Given the description of an element on the screen output the (x, y) to click on. 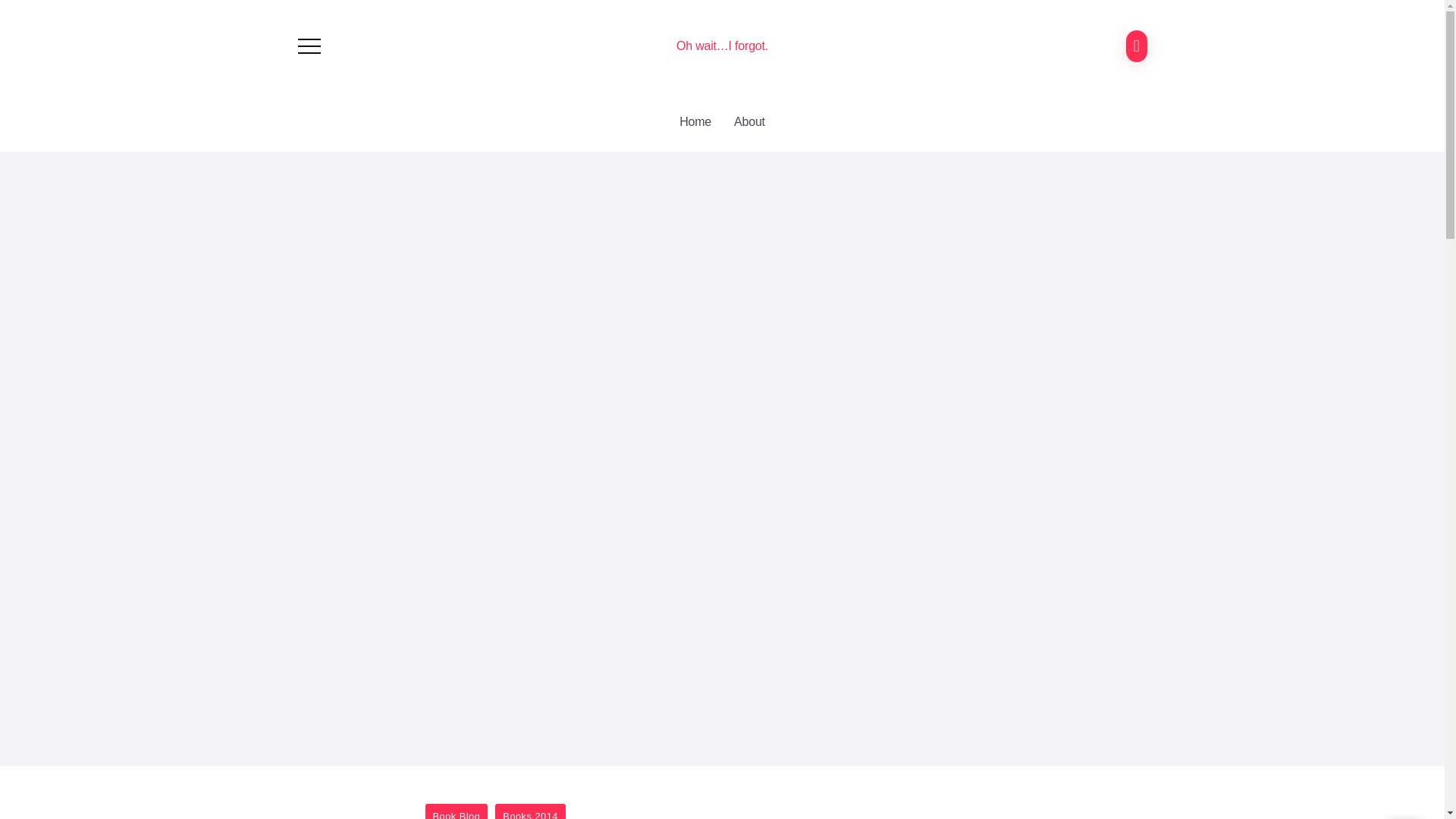
Books 2014 (530, 811)
Books 2014 (530, 811)
About (749, 121)
Book Blog (456, 811)
Book Blog (456, 811)
Home (694, 121)
